Given the description of an element on the screen output the (x, y) to click on. 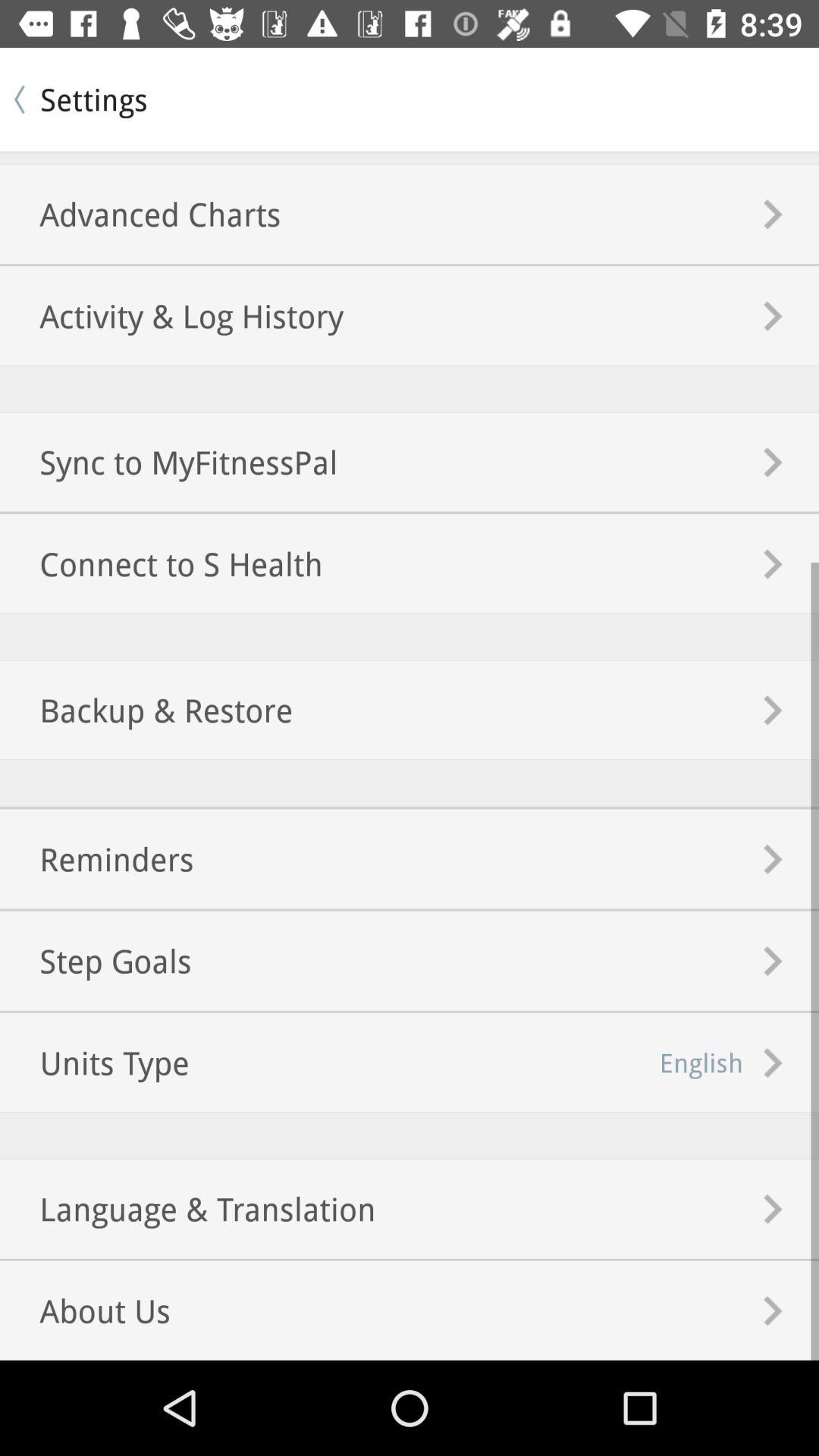
flip to language & translation item (187, 1208)
